Given the description of an element on the screen output the (x, y) to click on. 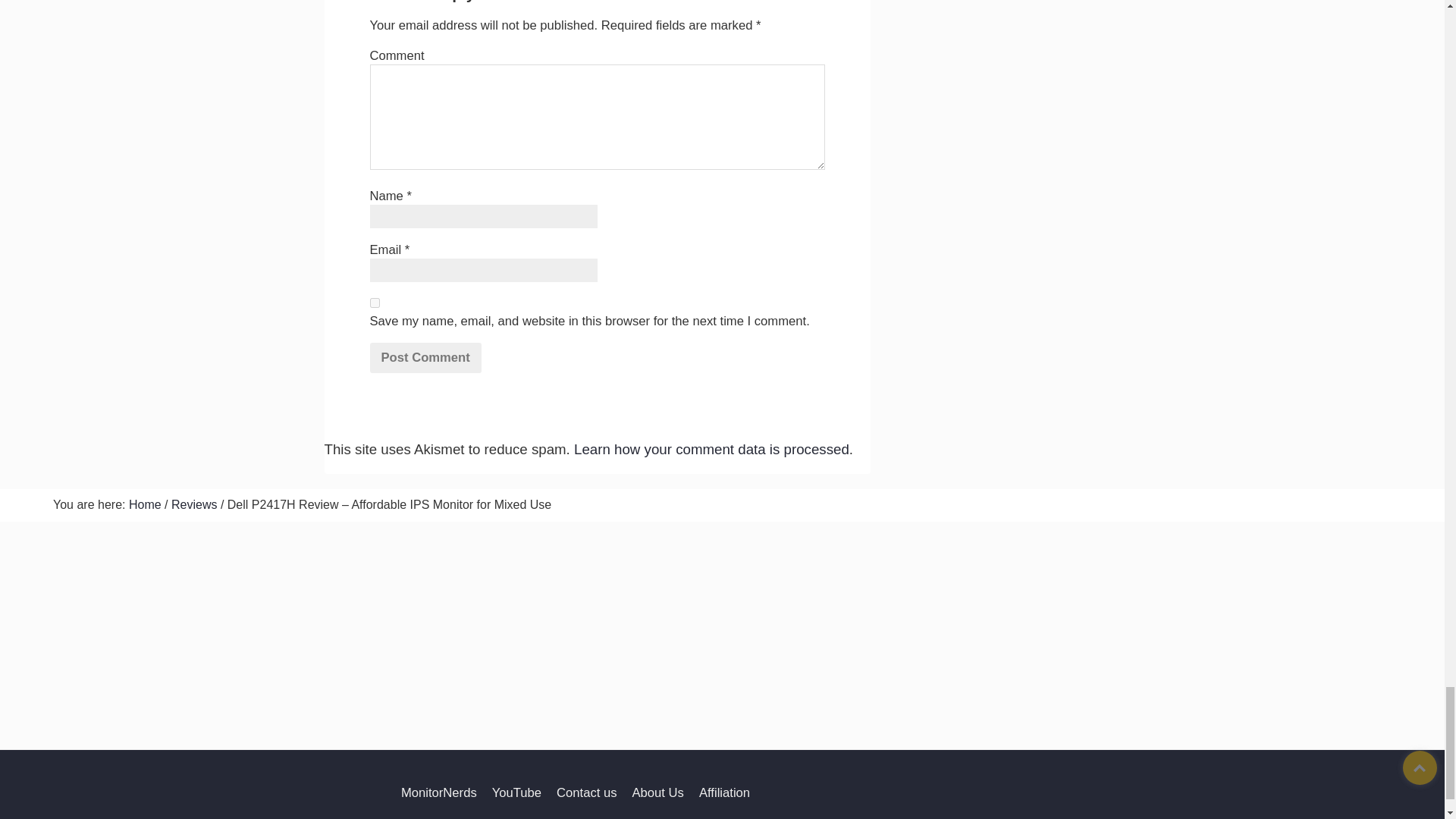
Post Comment (425, 358)
Post Comment (425, 358)
Reviews (193, 504)
MonitorNerds (438, 792)
yes (374, 302)
Learn how your comment data is processed (710, 449)
YouTube (516, 792)
Home (145, 504)
